Given the description of an element on the screen output the (x, y) to click on. 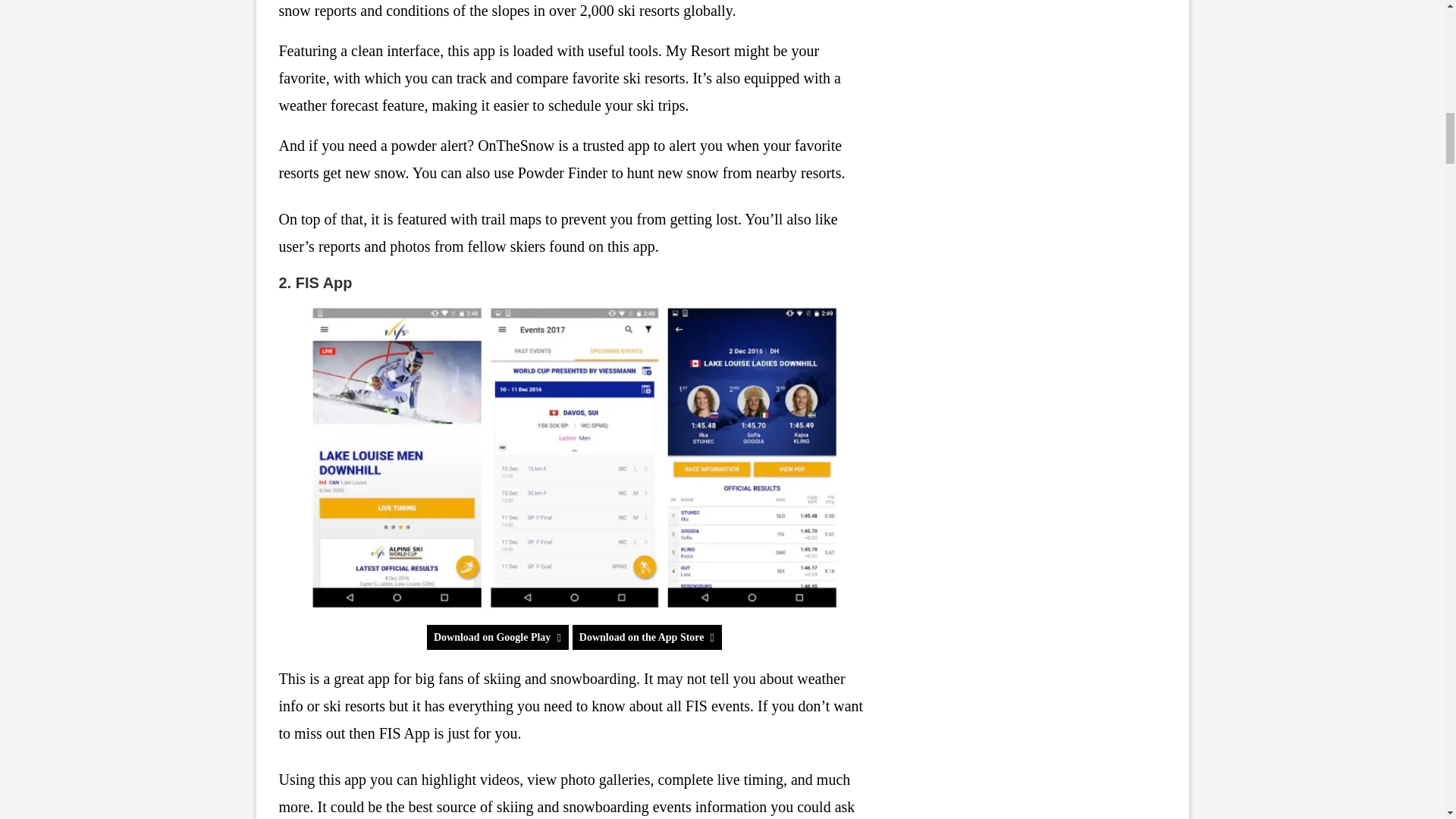
Download on Google Play (497, 637)
Download on the App Store (647, 637)
